Given the description of an element on the screen output the (x, y) to click on. 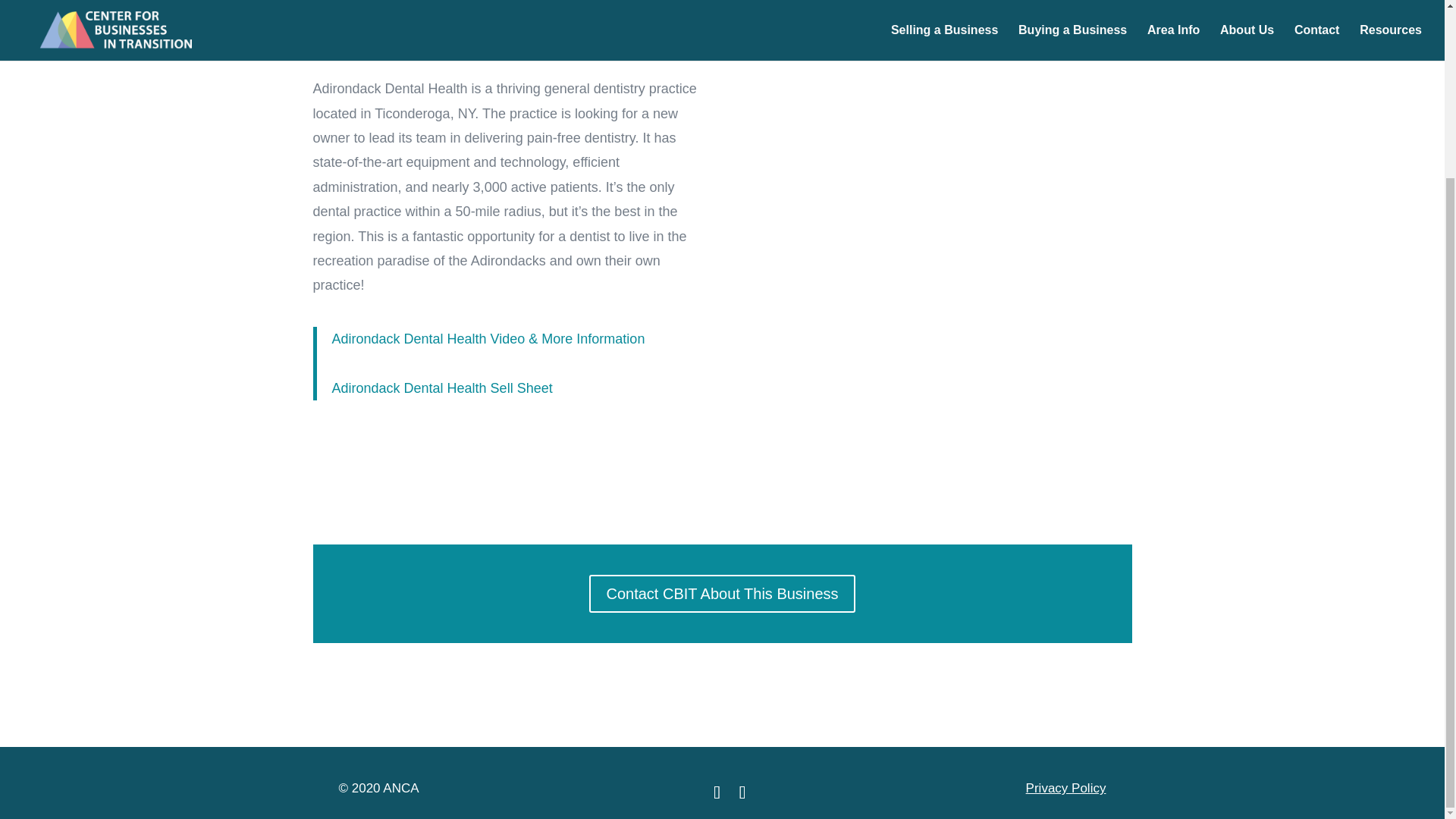
Adirondack Dental Health Sell Sheet (442, 387)
Privacy Policy (1066, 788)
Contact CBIT About This Business (721, 593)
